Given the description of an element on the screen output the (x, y) to click on. 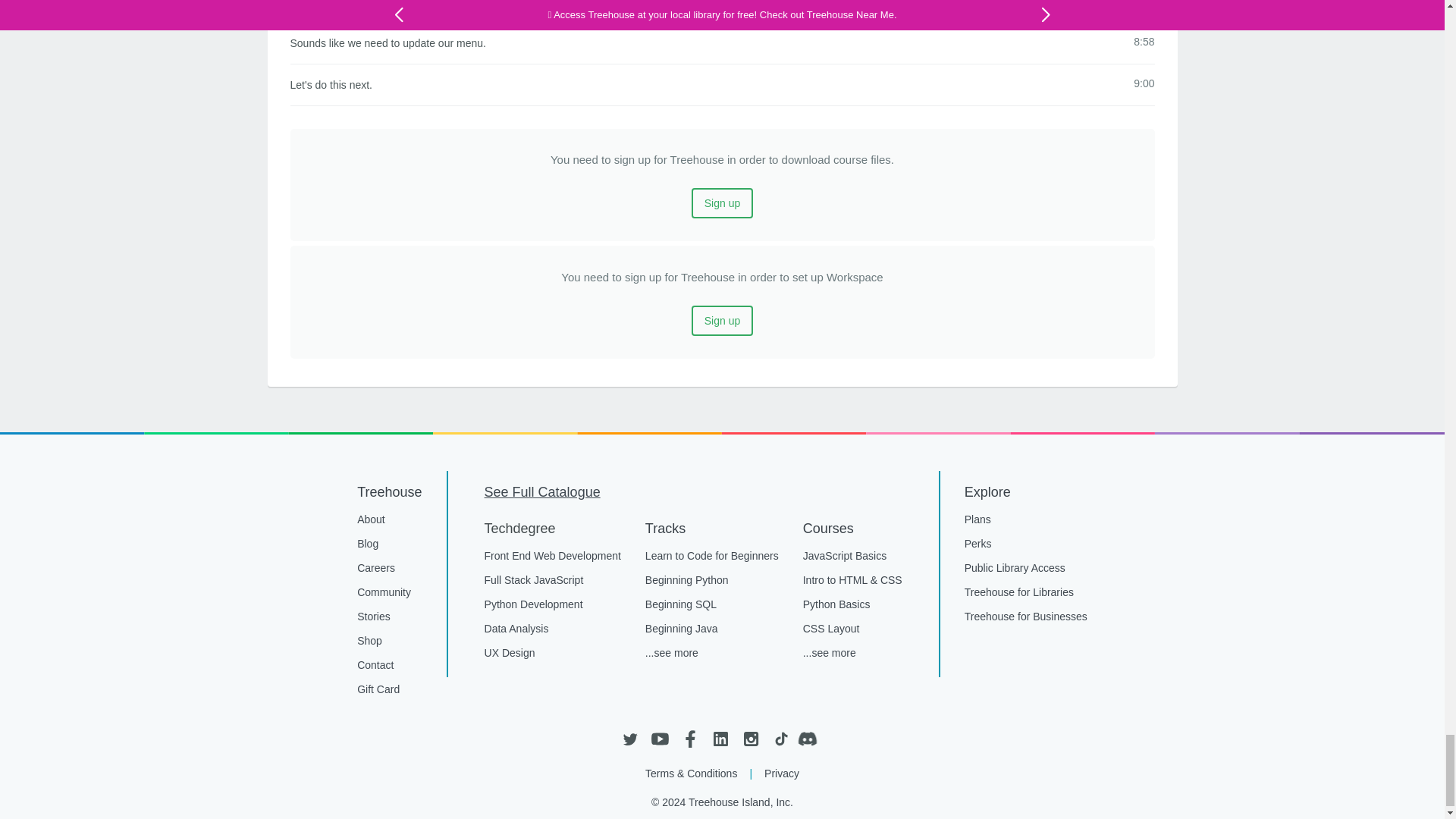
Twitter (628, 738)
YouTube (659, 738)
Twitter (628, 738)
YouTube (659, 738)
LinkedIn (719, 738)
Facebook (690, 738)
TikTok (780, 738)
Instagram (749, 738)
LinkedIn (719, 738)
Facebook (690, 738)
